Given the description of an element on the screen output the (x, y) to click on. 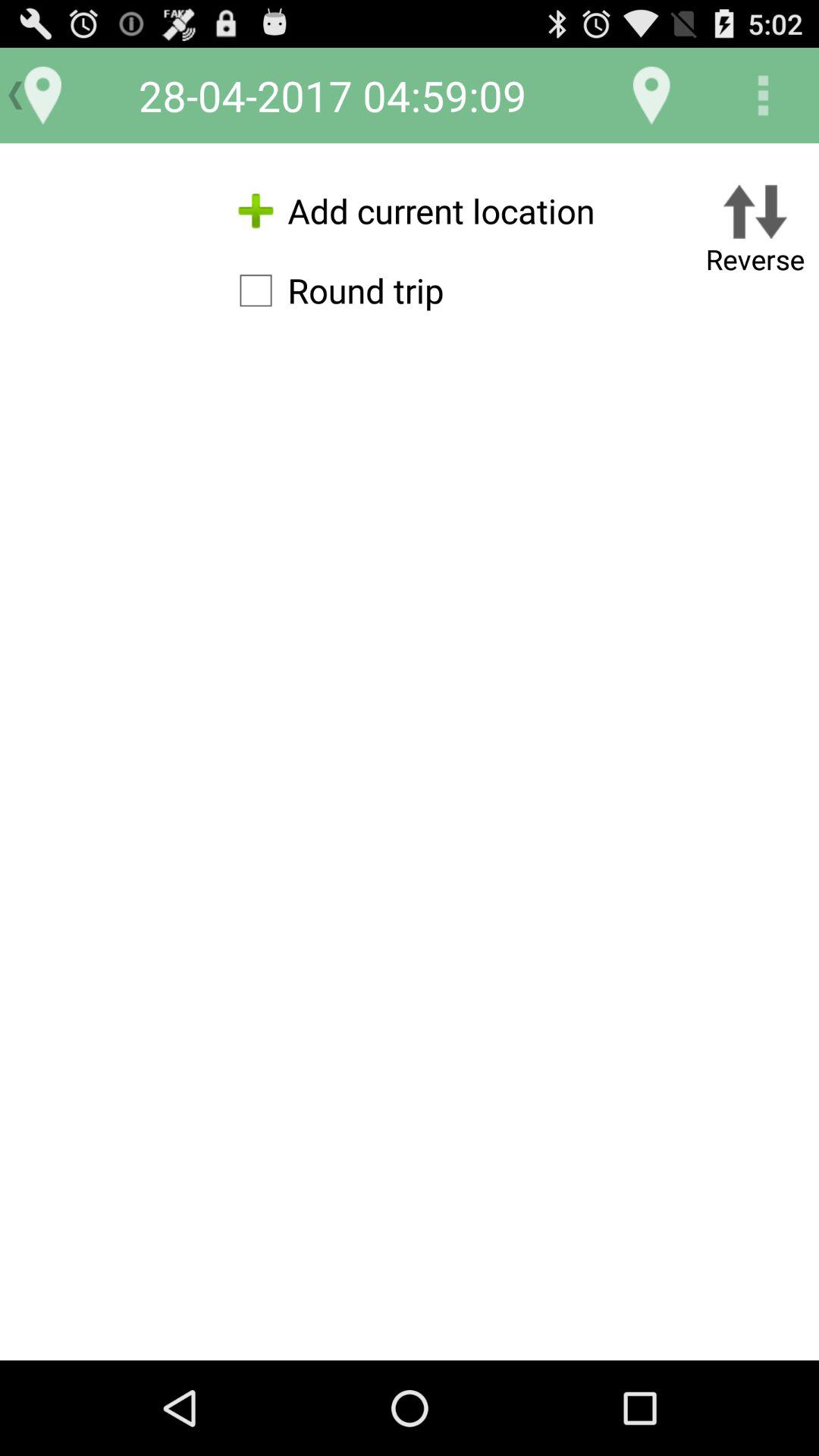
select the icon below the add current location item (334, 290)
